Given the description of an element on the screen output the (x, y) to click on. 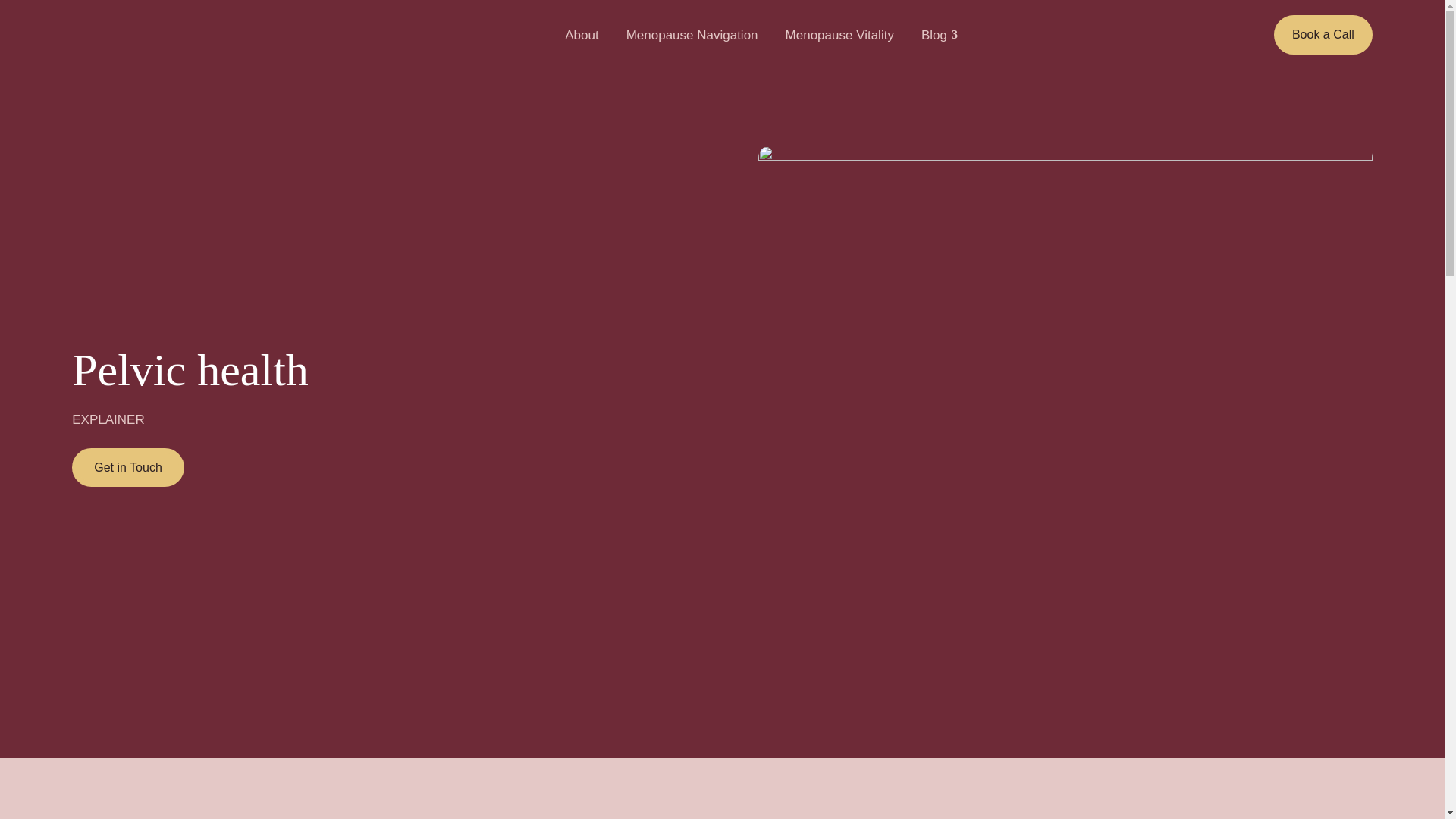
Menopause Navigation (691, 34)
Book a Call (1323, 34)
Menopause Vitality (839, 34)
Blog (939, 34)
EXPLAINER (107, 419)
Get in Touch (127, 466)
About (581, 34)
